Given the description of an element on the screen output the (x, y) to click on. 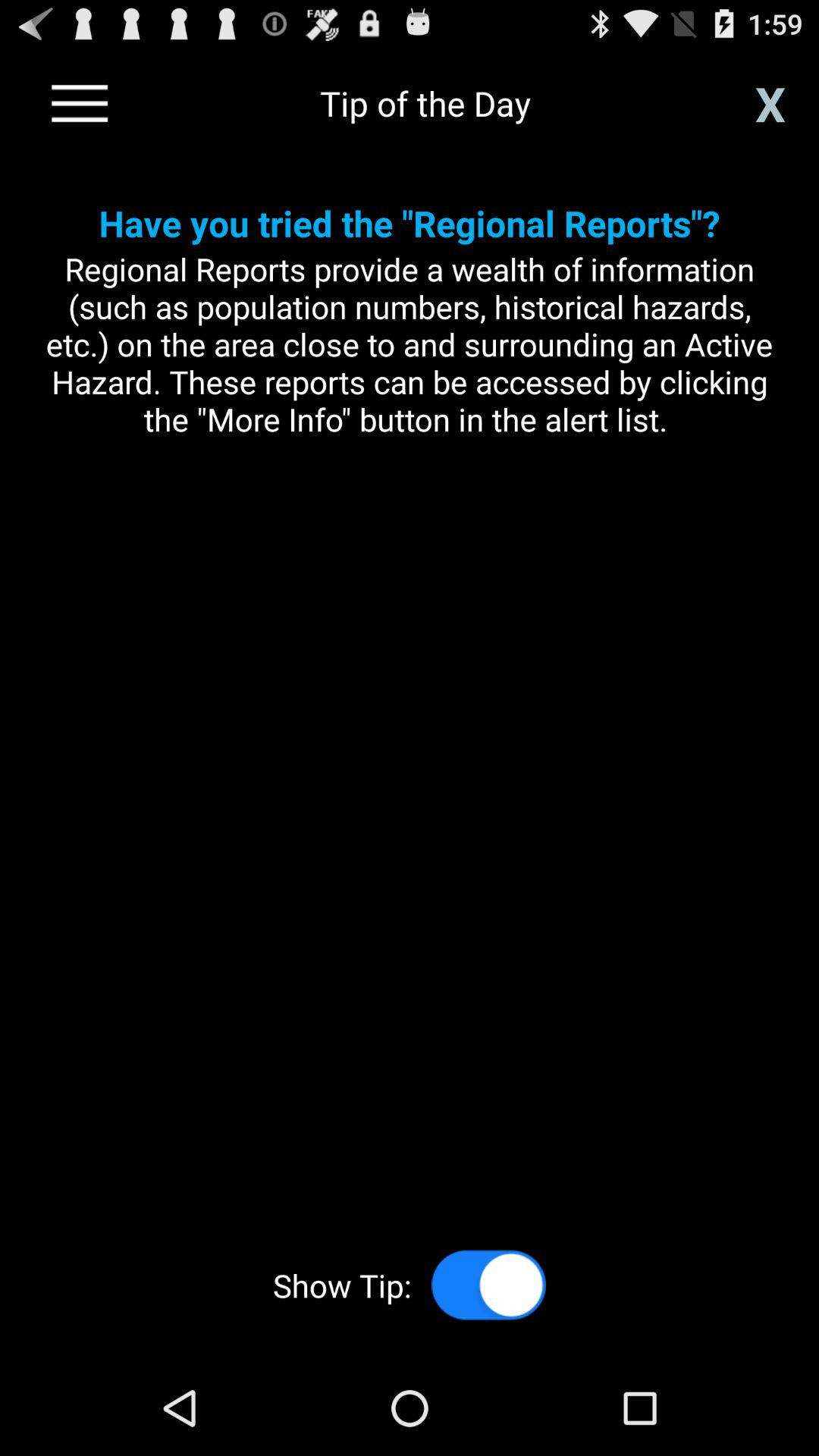
menu (79, 103)
